Given the description of an element on the screen output the (x, y) to click on. 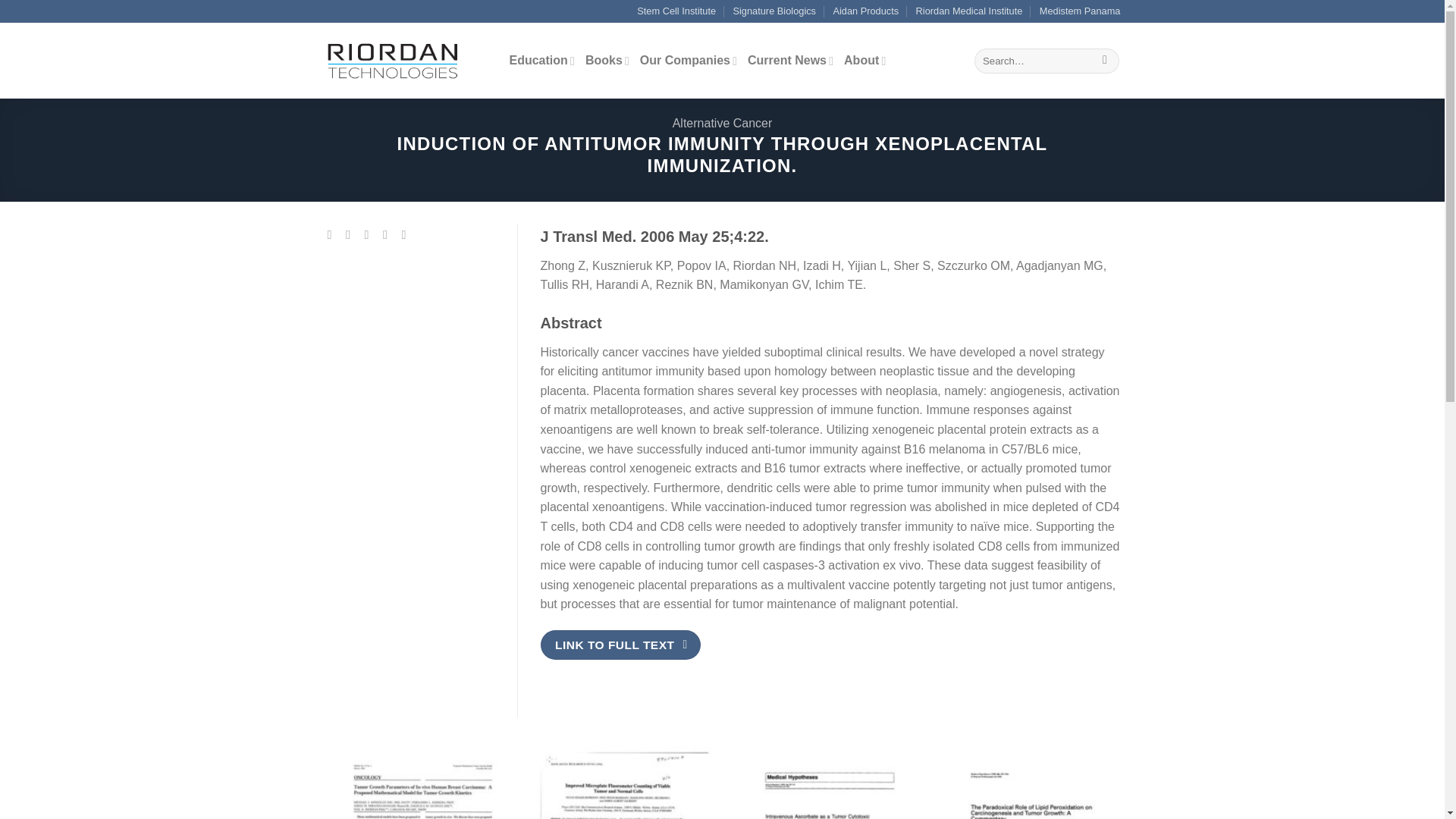
Alternative Cancer (722, 123)
Stem Cell Institute (676, 11)
Medistem Panama (1080, 11)
Aidan Products (865, 11)
About (864, 60)
Share on LinkedIn (407, 233)
Riordan Medical Institute (969, 11)
Share on Facebook (333, 233)
